Given the description of an element on the screen output the (x, y) to click on. 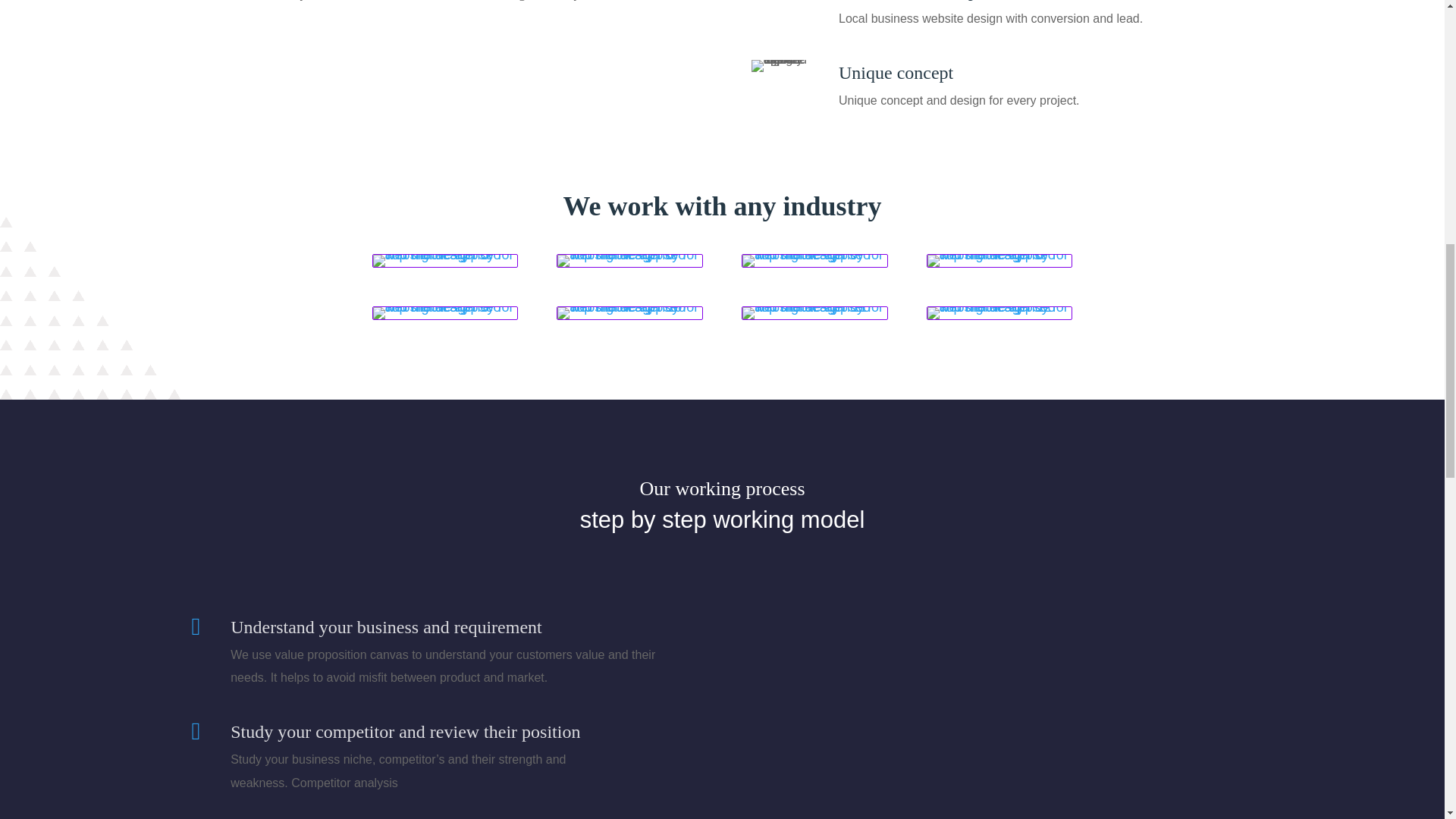
ecommerce website design (629, 254)
plumbing website design (814, 254)
Top digital agency for website design seo and mobile app 4 (779, 65)
Top digital agency for website design seo and mobile app 9 (445, 313)
accounting website design (999, 254)
Top digital agency for website design seo and mobile app 6 (629, 260)
Top digital agency for website design seo and mobile app 5 (445, 260)
business and consulting website design (629, 306)
Top digital agency for website design seo and mobile app 8 (999, 260)
Top digital agency for website design seo and mobile app 7 (814, 260)
